Given the description of an element on the screen output the (x, y) to click on. 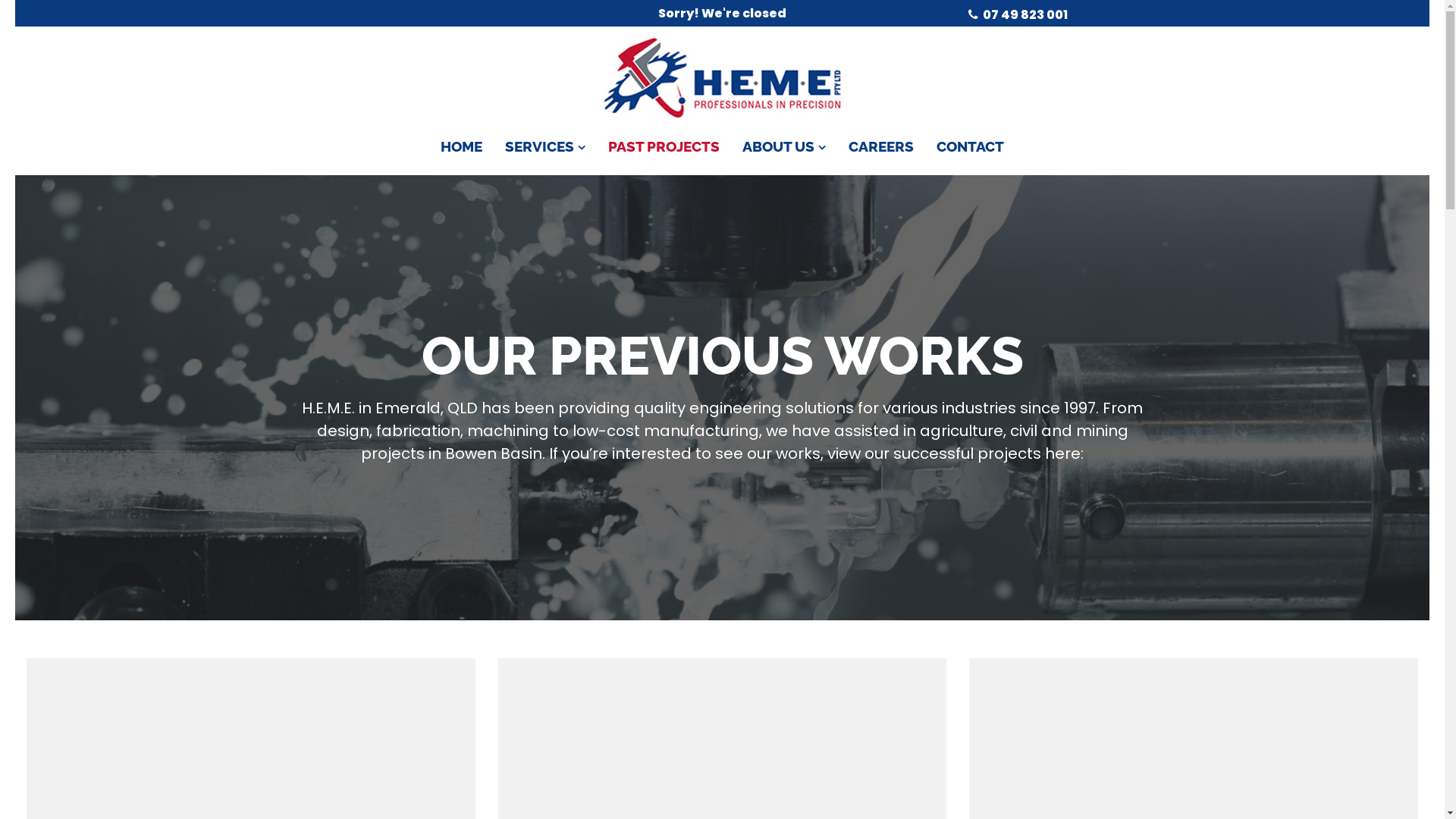
PAST PROJECTS Element type: text (663, 147)
CONTACT Element type: text (970, 147)
ABOUT US Element type: text (783, 147)
SERVICES Element type: text (545, 147)
HOME Element type: text (461, 147)
07 49 823 001 Element type: text (1024, 14)
CAREERS Element type: text (880, 147)
